Given the description of an element on the screen output the (x, y) to click on. 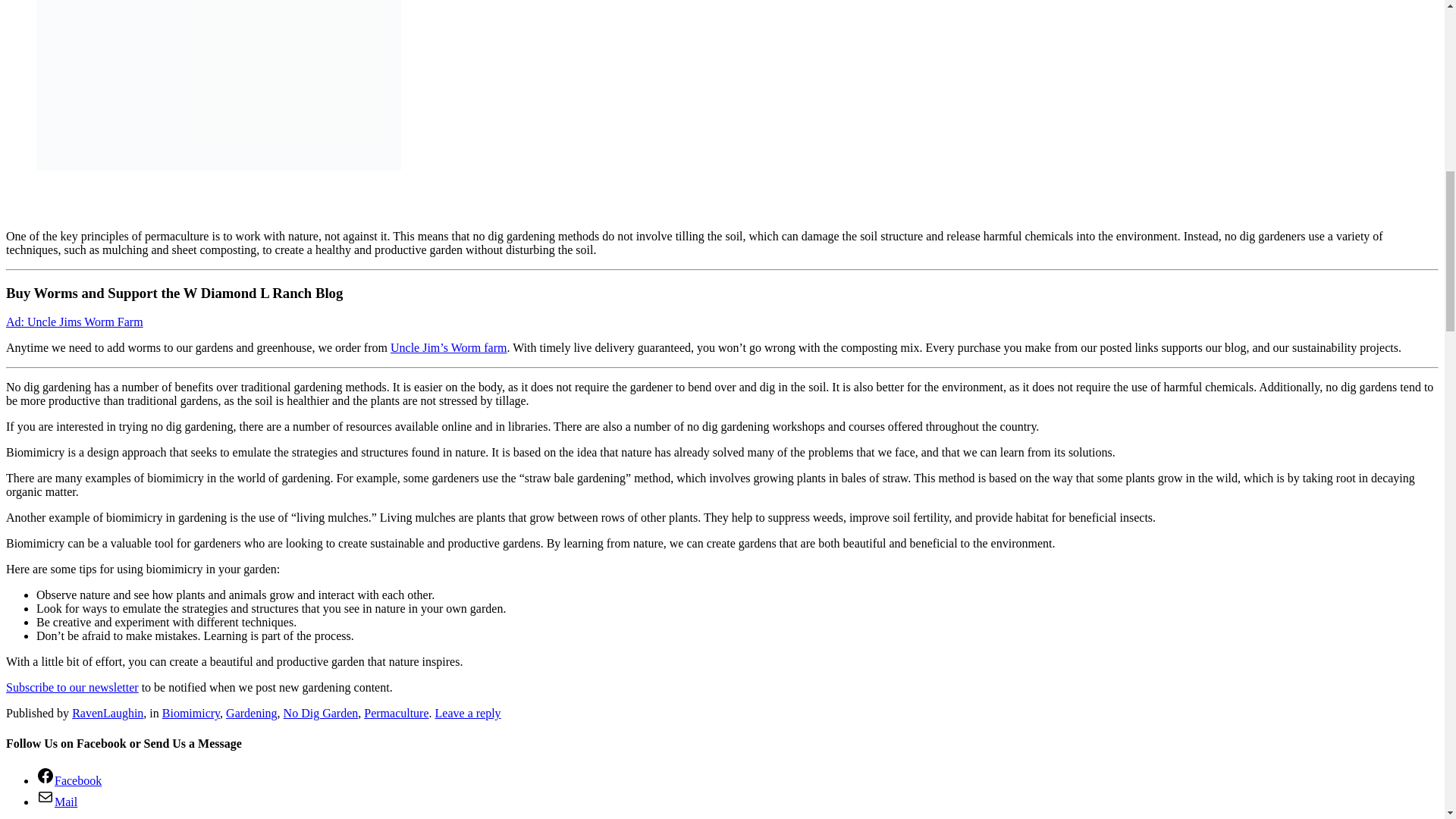
Leave a reply (467, 712)
RavenLaughin (106, 712)
View all posts by RavenLaughin (106, 712)
Mail (56, 801)
No Dig Garden (320, 712)
Facebook (68, 780)
Biomimicry (190, 712)
Subscribe to our newsletter (71, 686)
Gardening (251, 712)
Permaculture (396, 712)
